Given the description of an element on the screen output the (x, y) to click on. 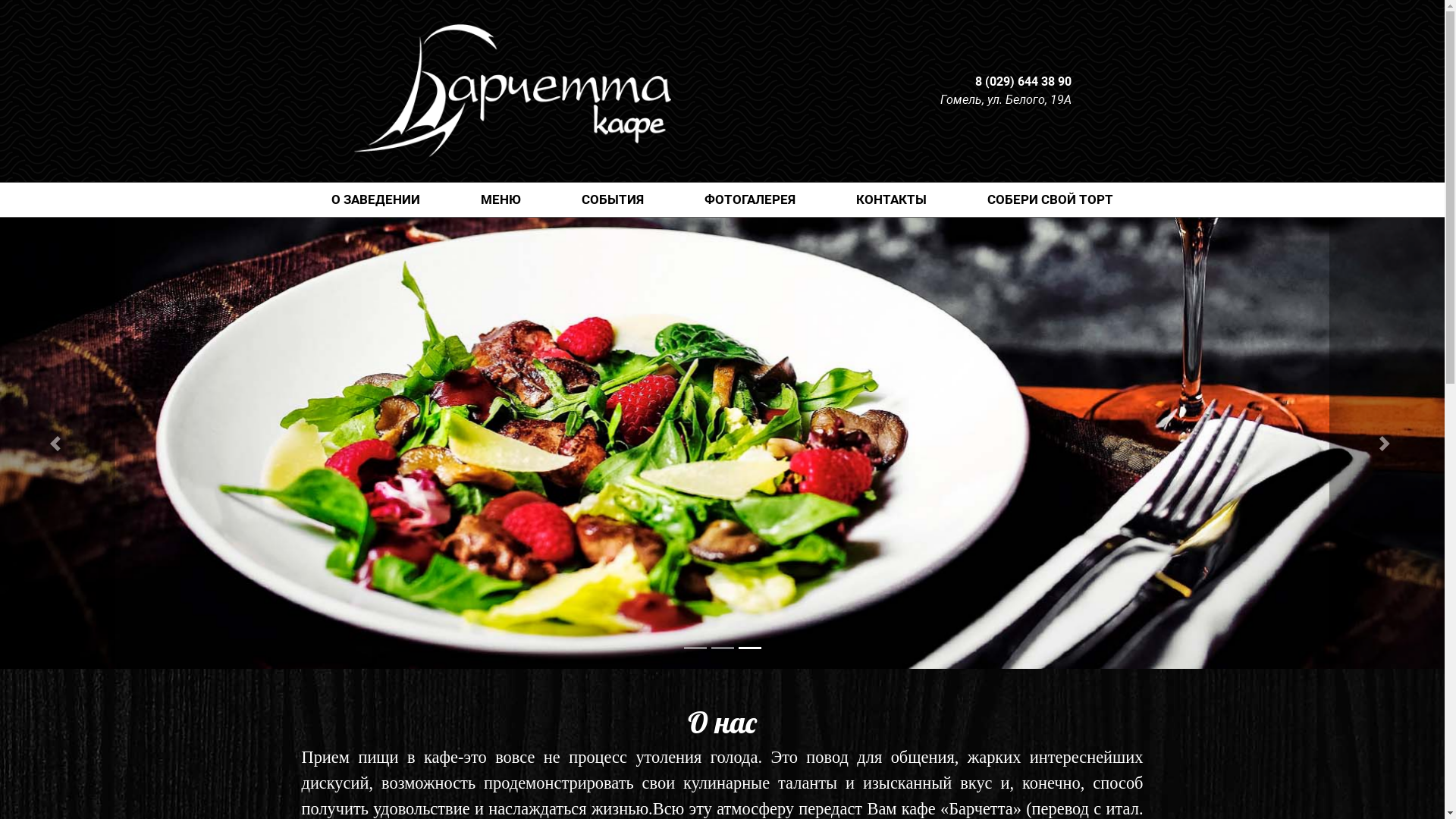
8 (029) 644 38 90 Element type: text (1023, 81)
